Given the description of an element on the screen output the (x, y) to click on. 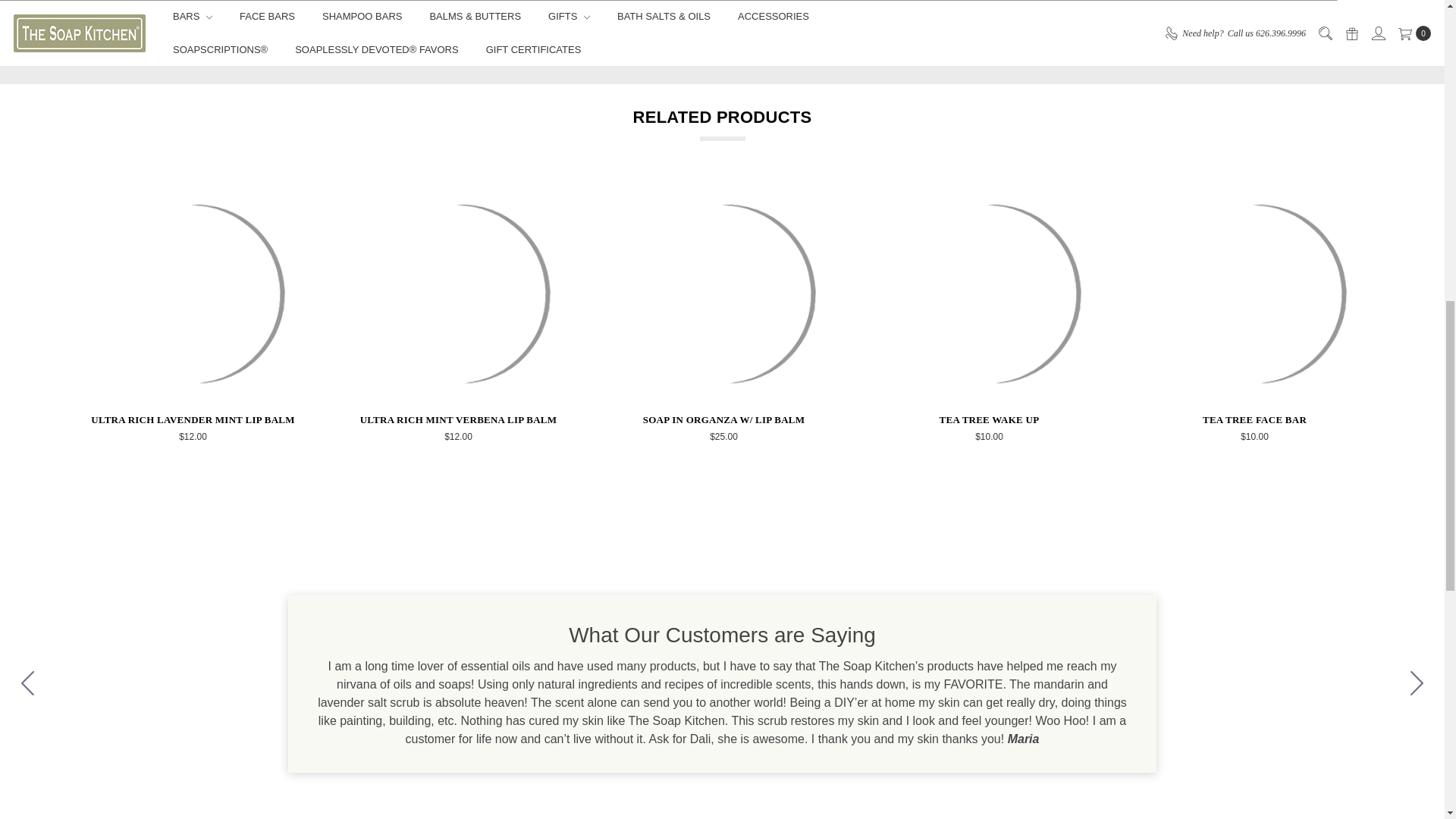
The Soap Kitchen Lip Balm (458, 293)
The Soap Kitchen Lip Balm (192, 293)
Tea Tree Wake Up 4oz (988, 293)
Tea Tree Face Bar 4oz (1254, 293)
